Given the description of an element on the screen output the (x, y) to click on. 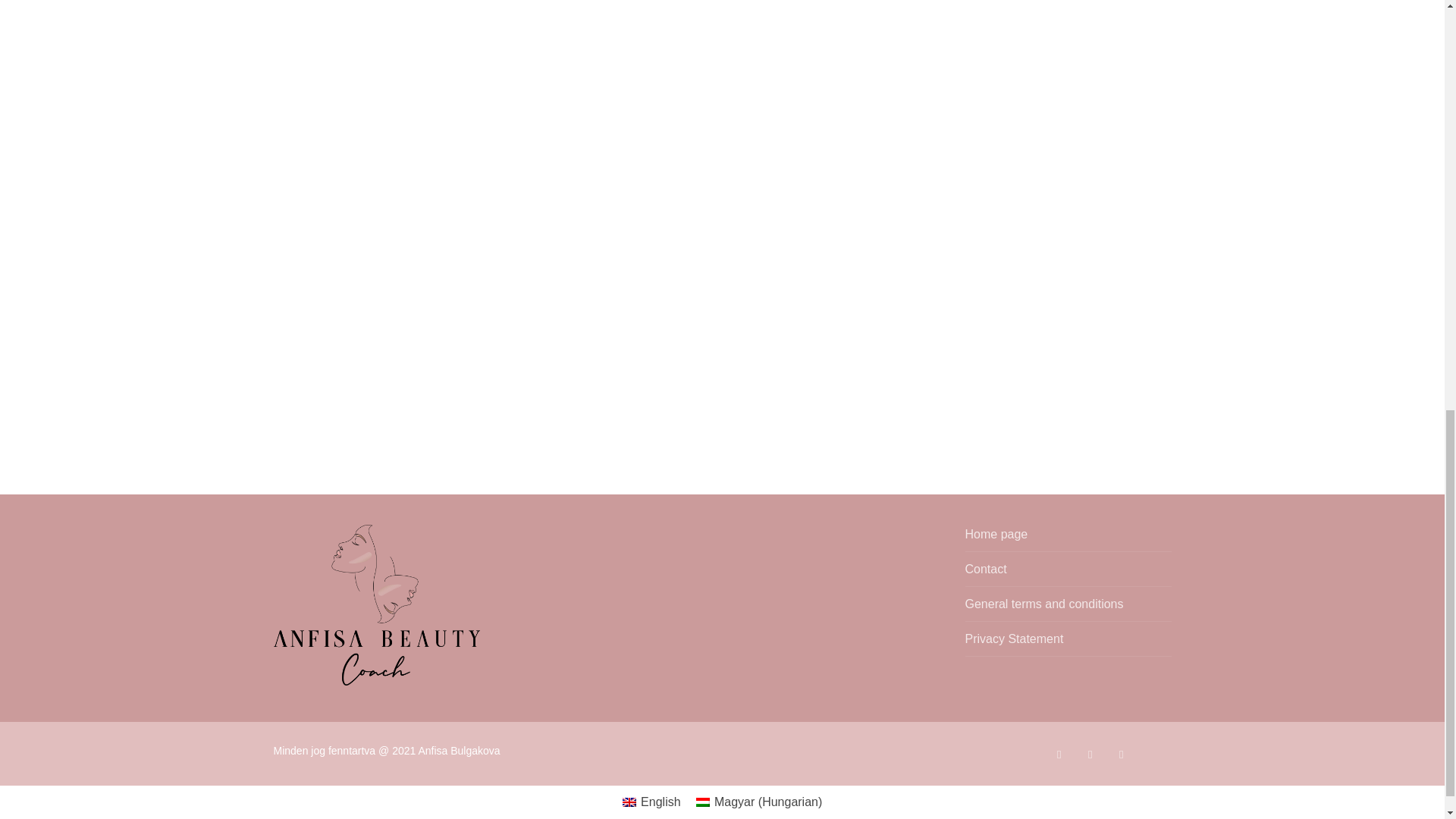
Privacy Statement (1066, 642)
Youtube (1090, 754)
Instagram (1120, 754)
Contact (1066, 573)
English (651, 802)
General terms and conditions (1066, 607)
Facebook (1058, 754)
Home page (1066, 538)
